Given the description of an element on the screen output the (x, y) to click on. 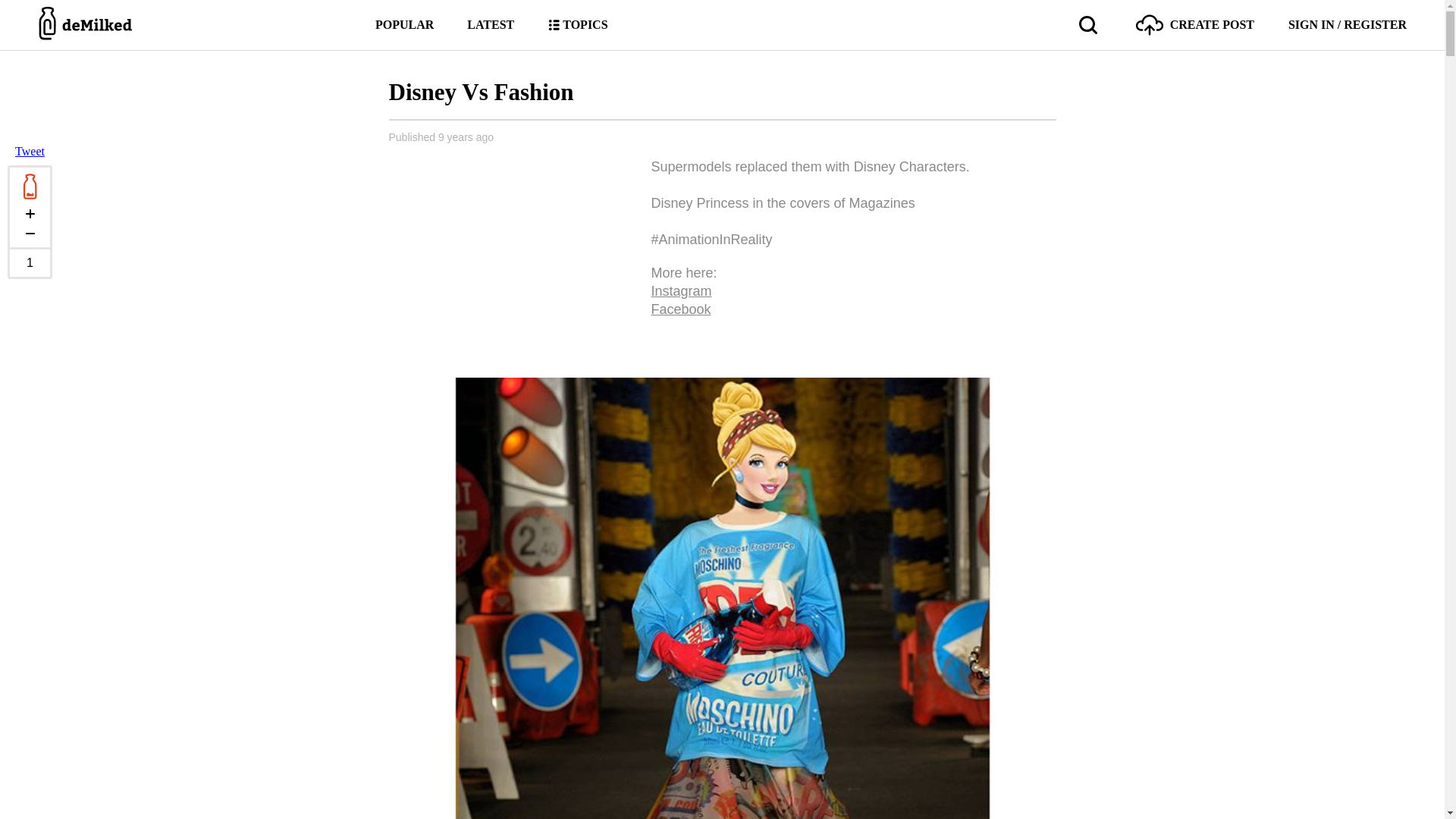
POPULAR (404, 24)
TOPICS (577, 24)
CREATE POST (1194, 24)
LATEST (490, 24)
